Given the description of an element on the screen output the (x, y) to click on. 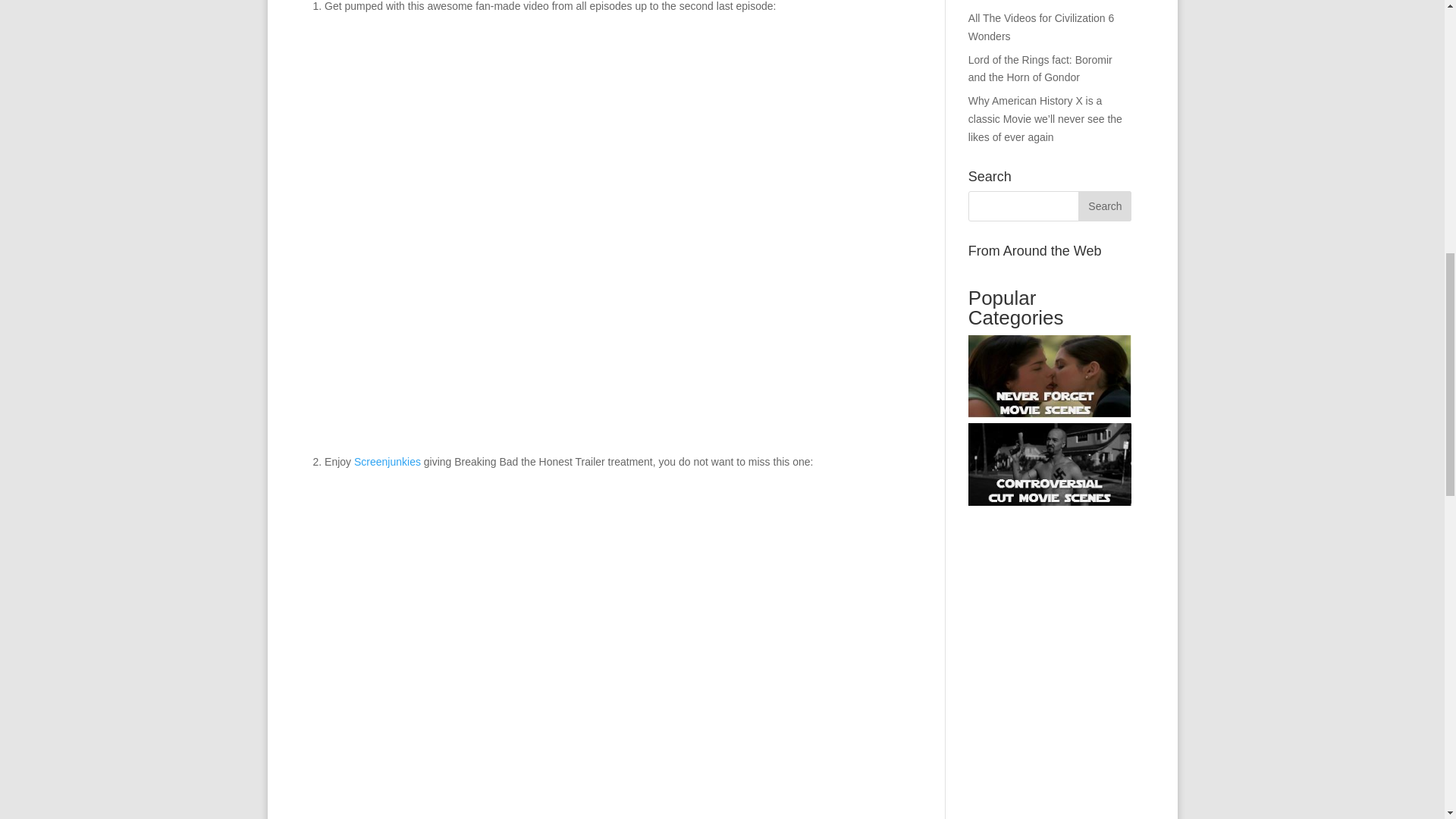
Search (1104, 205)
